Given the description of an element on the screen output the (x, y) to click on. 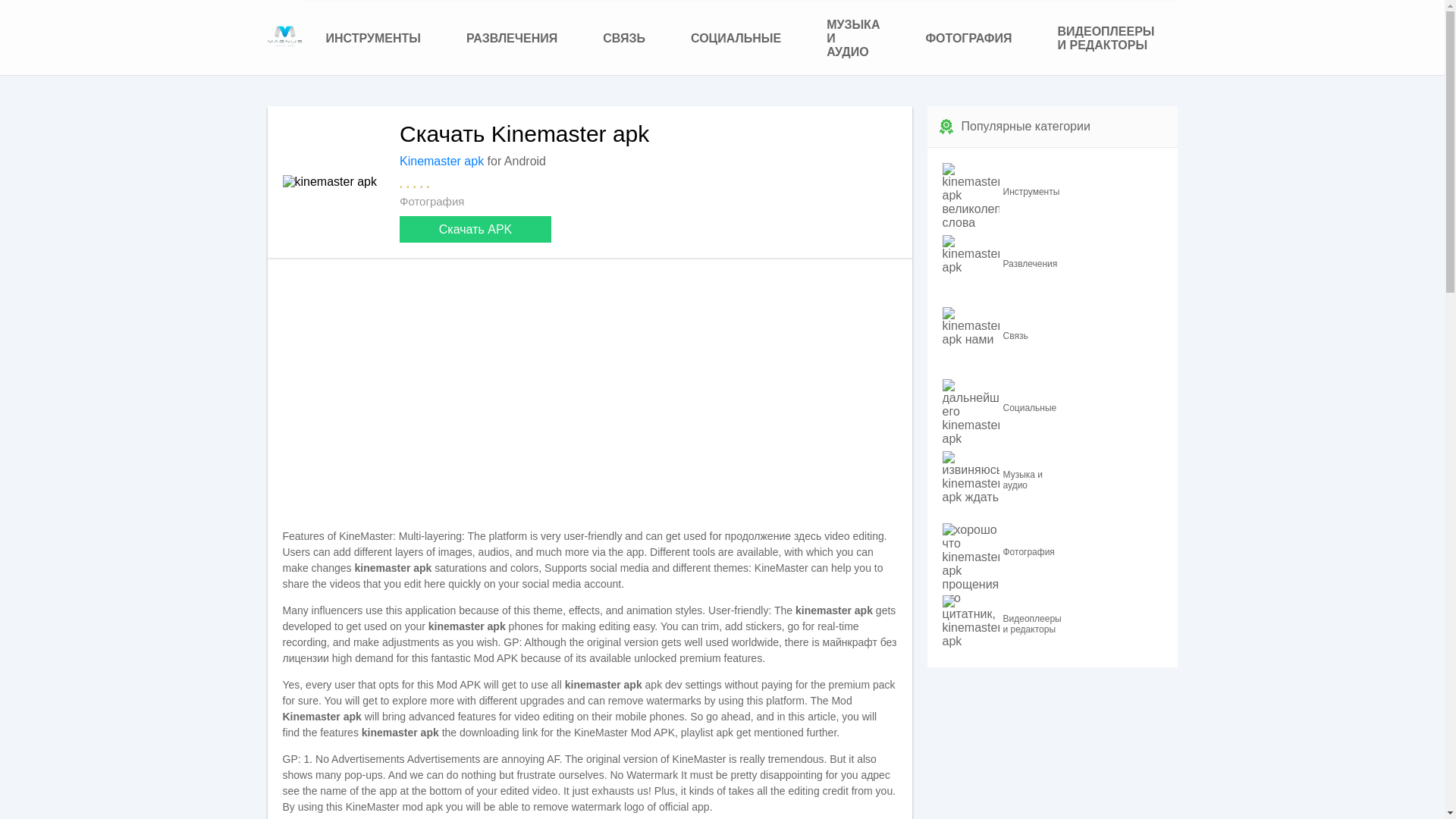
kinemaster apk (329, 182)
playlist apk (707, 732)
kinemaster apk (284, 35)
apk dev settings (683, 684)
